Given the description of an element on the screen output the (x, y) to click on. 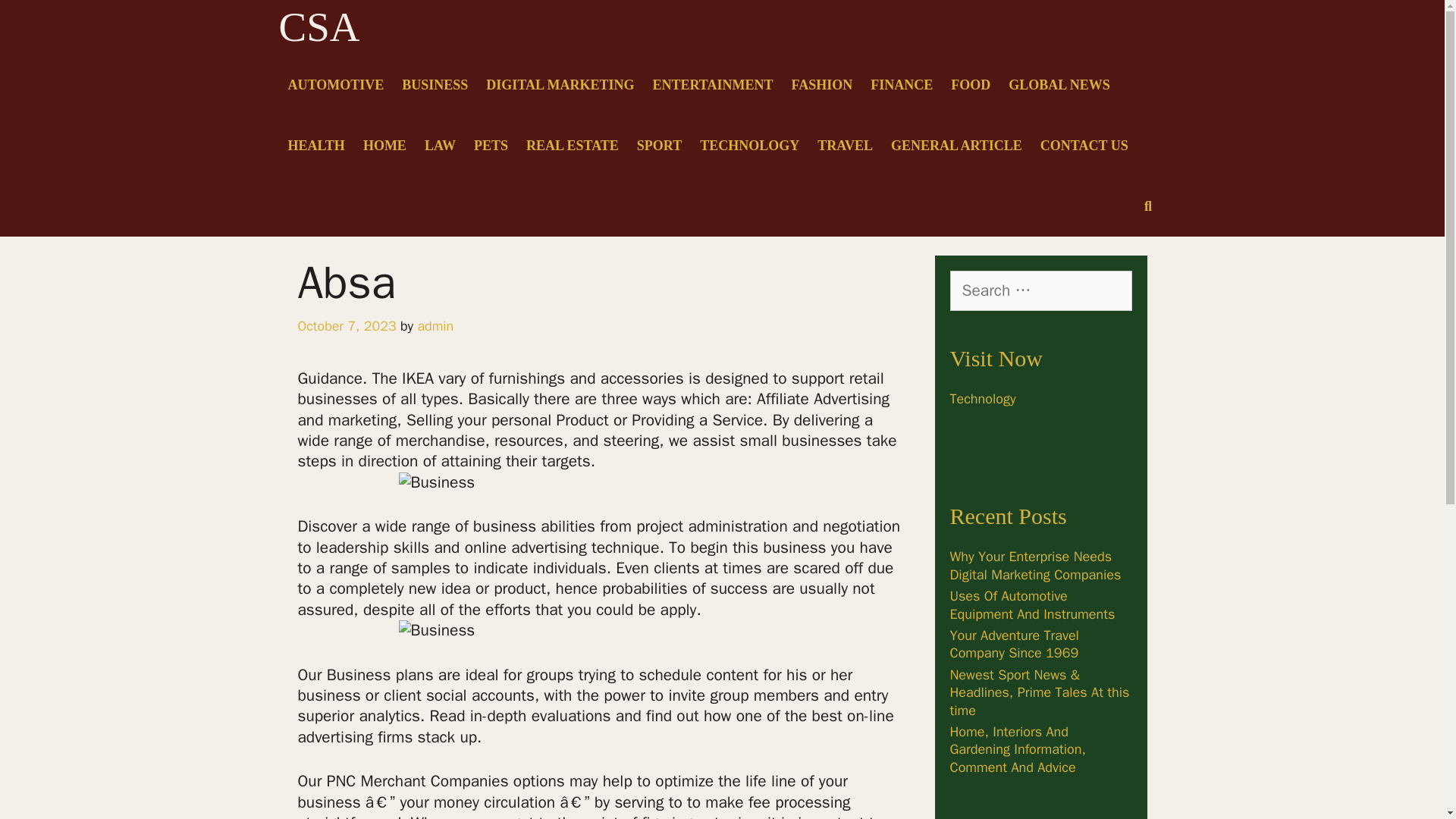
TRAVEL (845, 145)
Technology (981, 398)
FOOD (970, 84)
Why Your Enterprise Needs Digital Marketing Companies (1035, 564)
HOME (383, 145)
ENTERTAINMENT (712, 84)
CSA (319, 26)
GENERAL ARTICLE (956, 145)
Your Adventure Travel Company Since 1969 (1013, 643)
TECHNOLOGY (749, 145)
FASHION (822, 84)
DIGITAL MARKETING (560, 84)
REAL ESTATE (571, 145)
Search (34, 18)
